Given the description of an element on the screen output the (x, y) to click on. 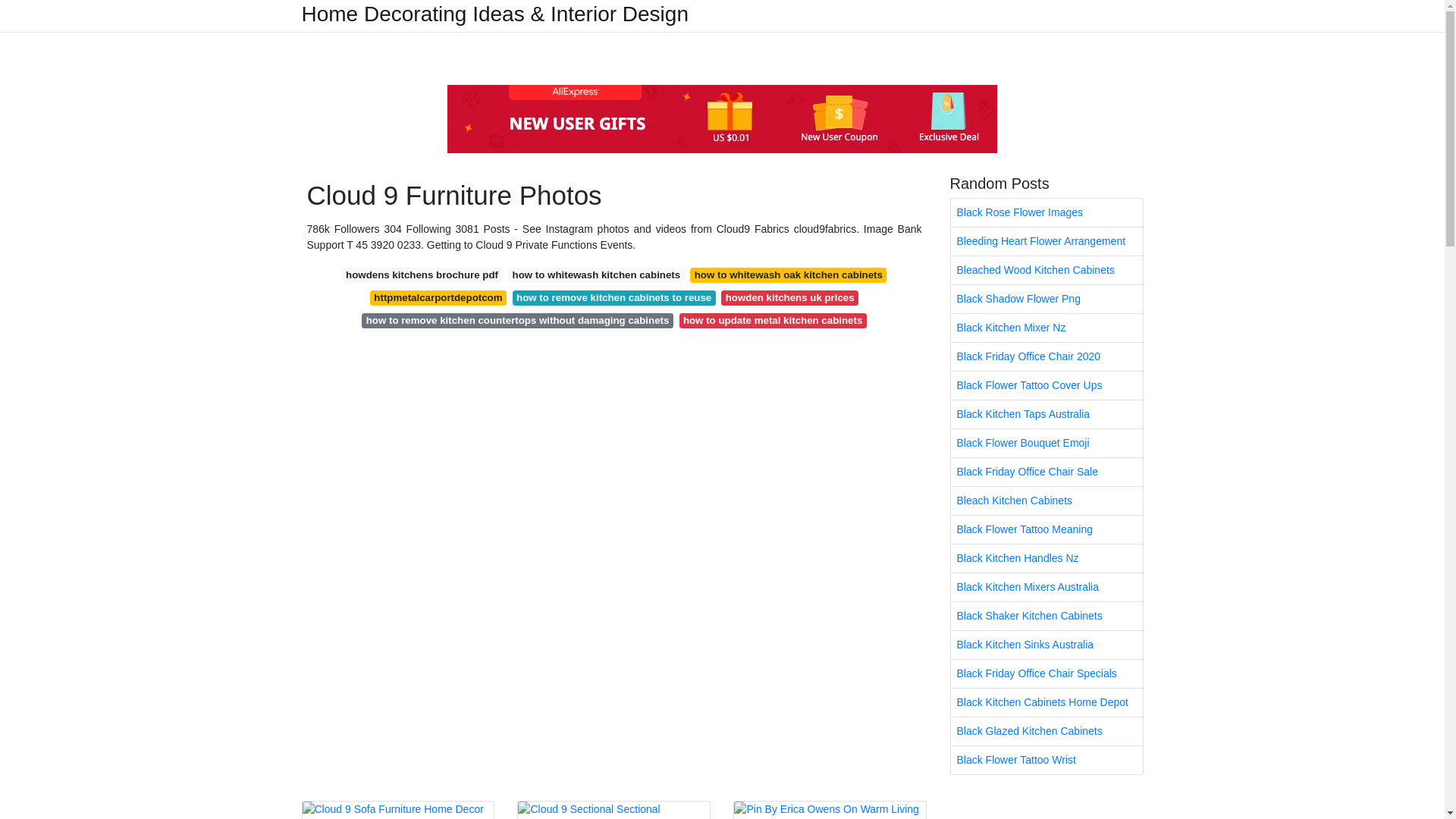
Bleached Wood Kitchen Cabinets (1046, 270)
Black Kitchen Taps Australia (1046, 414)
Black Flower Tattoo Cover Ups (1046, 385)
how to remove kitchen cabinets to reuse (614, 297)
Black Friday Office Chair 2020 (1046, 357)
howdens kitchens brochure pdf (422, 274)
how to update metal kitchen cabinets (772, 320)
Bleeding Heart Flower Arrangement (1046, 241)
how to whitewash oak kitchen cabinets (788, 274)
Black Shadow Flower Png (1046, 298)
